Given the description of an element on the screen output the (x, y) to click on. 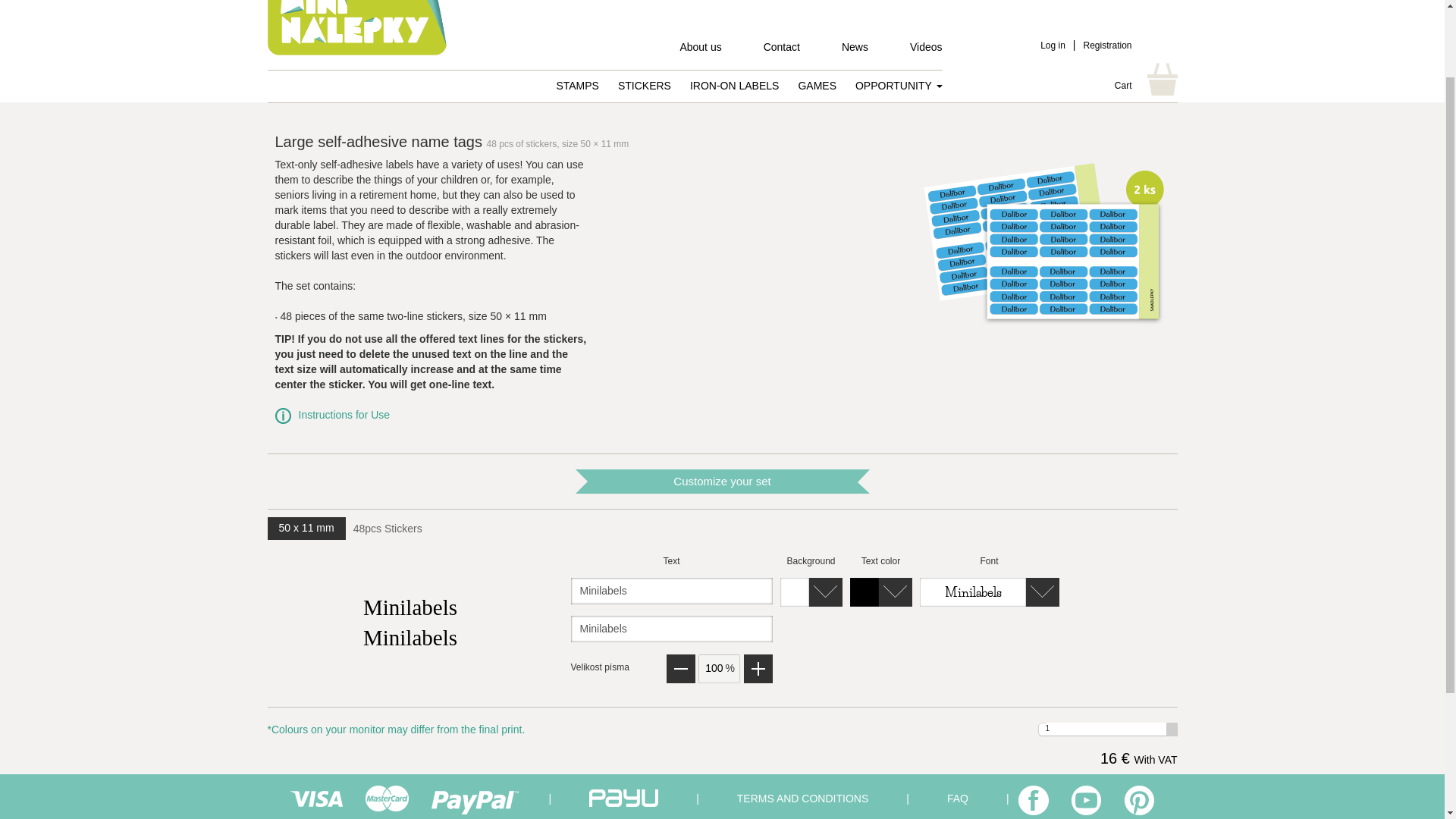
STICKERS (644, 85)
Videos (926, 48)
Log in (1053, 45)
Minilabels (670, 591)
Instructions for Use (344, 414)
OPPORTUNITY (899, 85)
Contact (780, 48)
Registration (1107, 45)
About us (699, 48)
GAMES (816, 85)
Add to cart (1099, 793)
Cart (1123, 85)
Minilabels (670, 628)
100 (718, 668)
IRON-ON LABELS (734, 85)
